Given the description of an element on the screen output the (x, y) to click on. 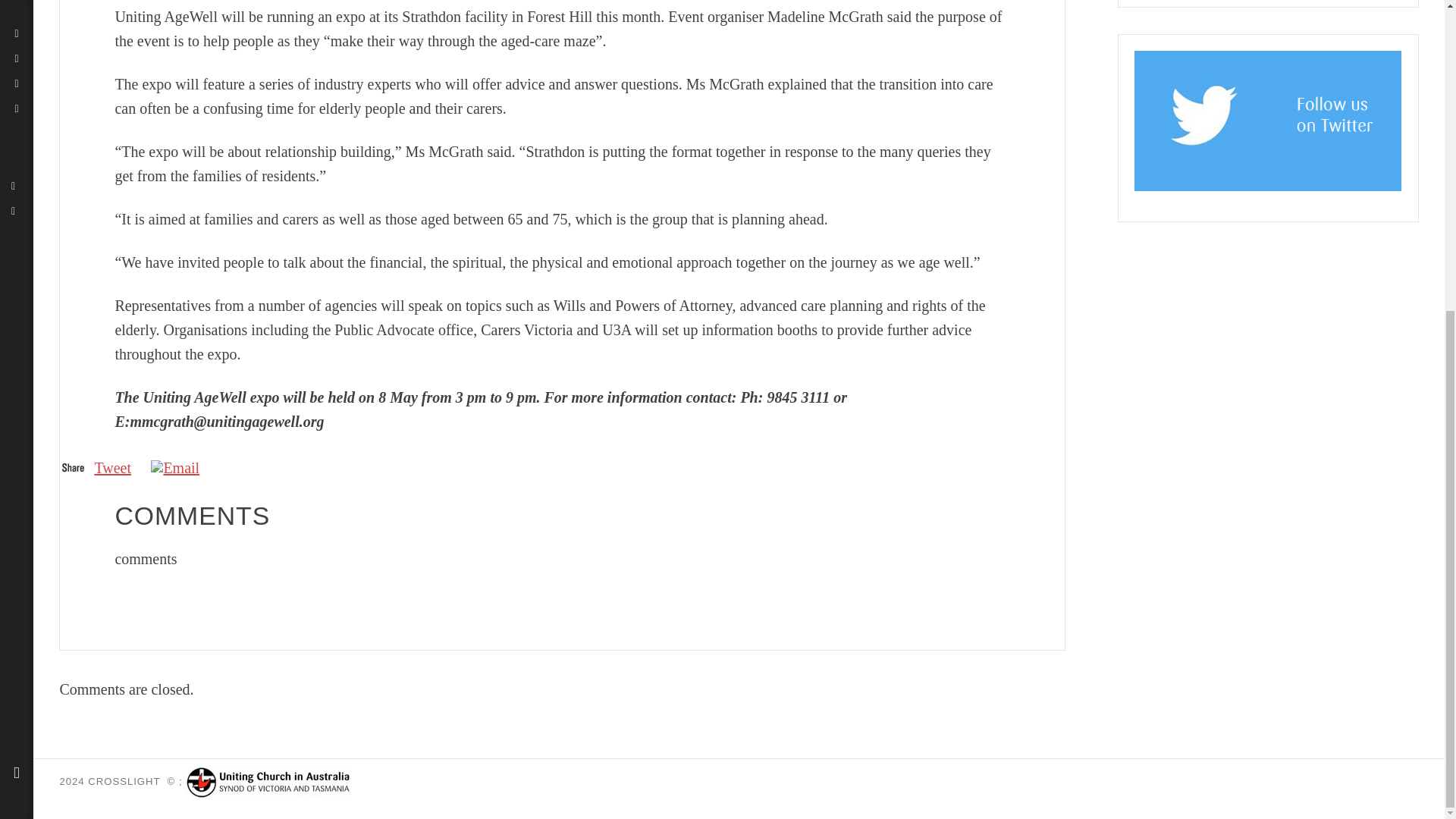
Email (175, 467)
Tweet (112, 467)
